Given the description of an element on the screen output the (x, y) to click on. 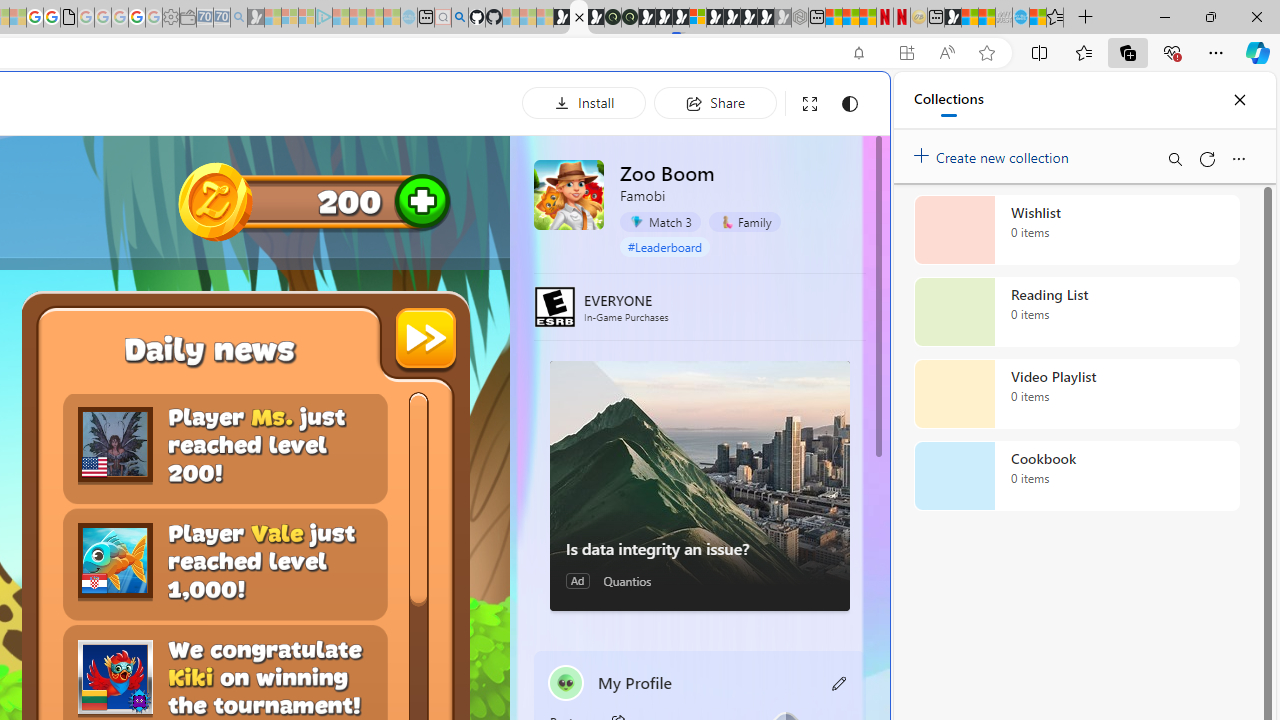
Close split screen (844, 102)
Play Cave FRVR in your browser | Games from Microsoft Start (663, 17)
Settings - Sleeping (170, 17)
Install (583, 102)
Is data integrity an issue? (699, 485)
Future Focus Report 2024 (629, 17)
